Given the description of an element on the screen output the (x, y) to click on. 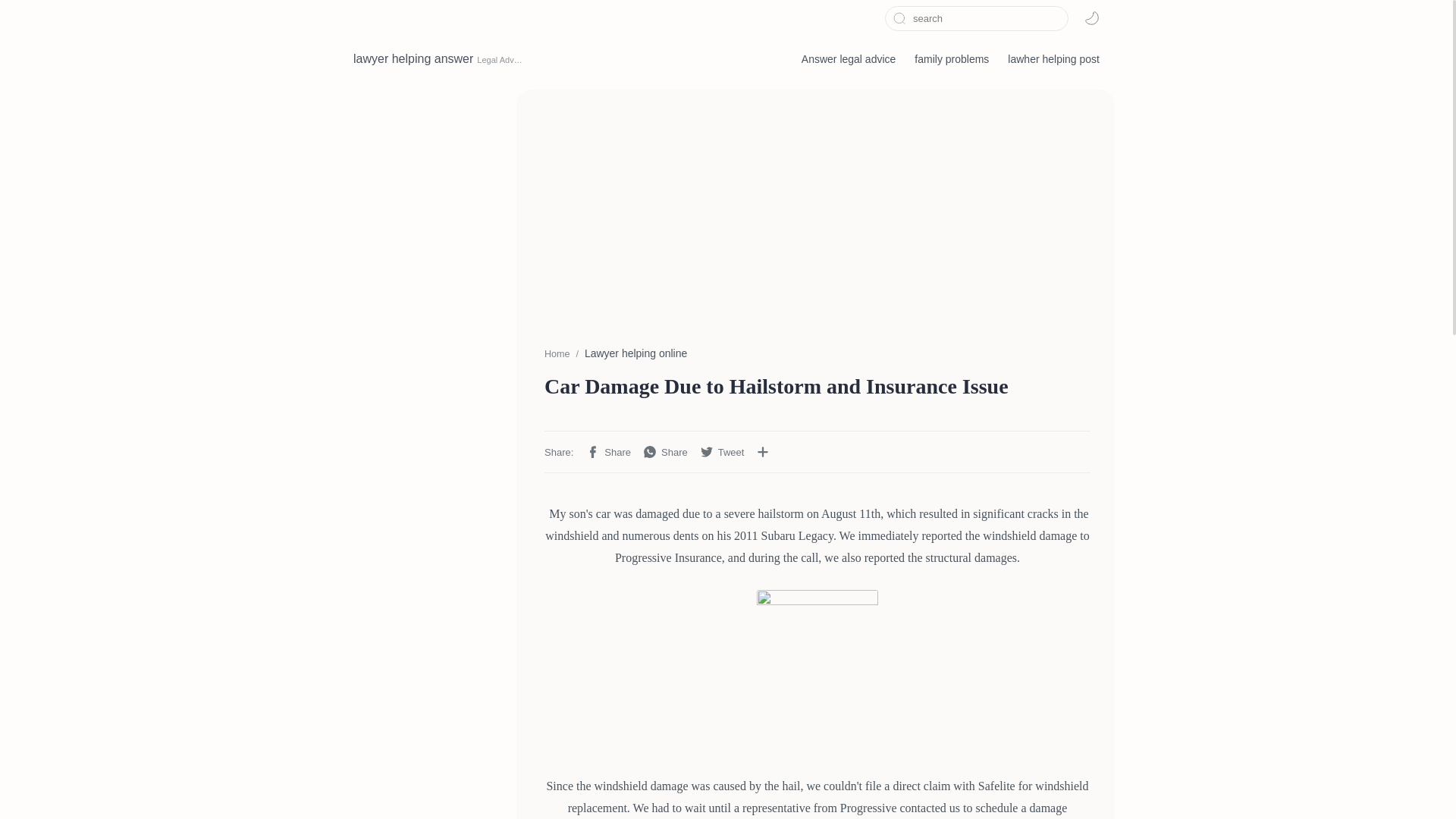
lawher helping post (1053, 59)
Home (557, 353)
Advertisement (817, 210)
family problems (951, 59)
Answer legal advice (849, 59)
lawyer helping answer (413, 59)
Lawyer helping online (636, 353)
